Given the description of an element on the screen output the (x, y) to click on. 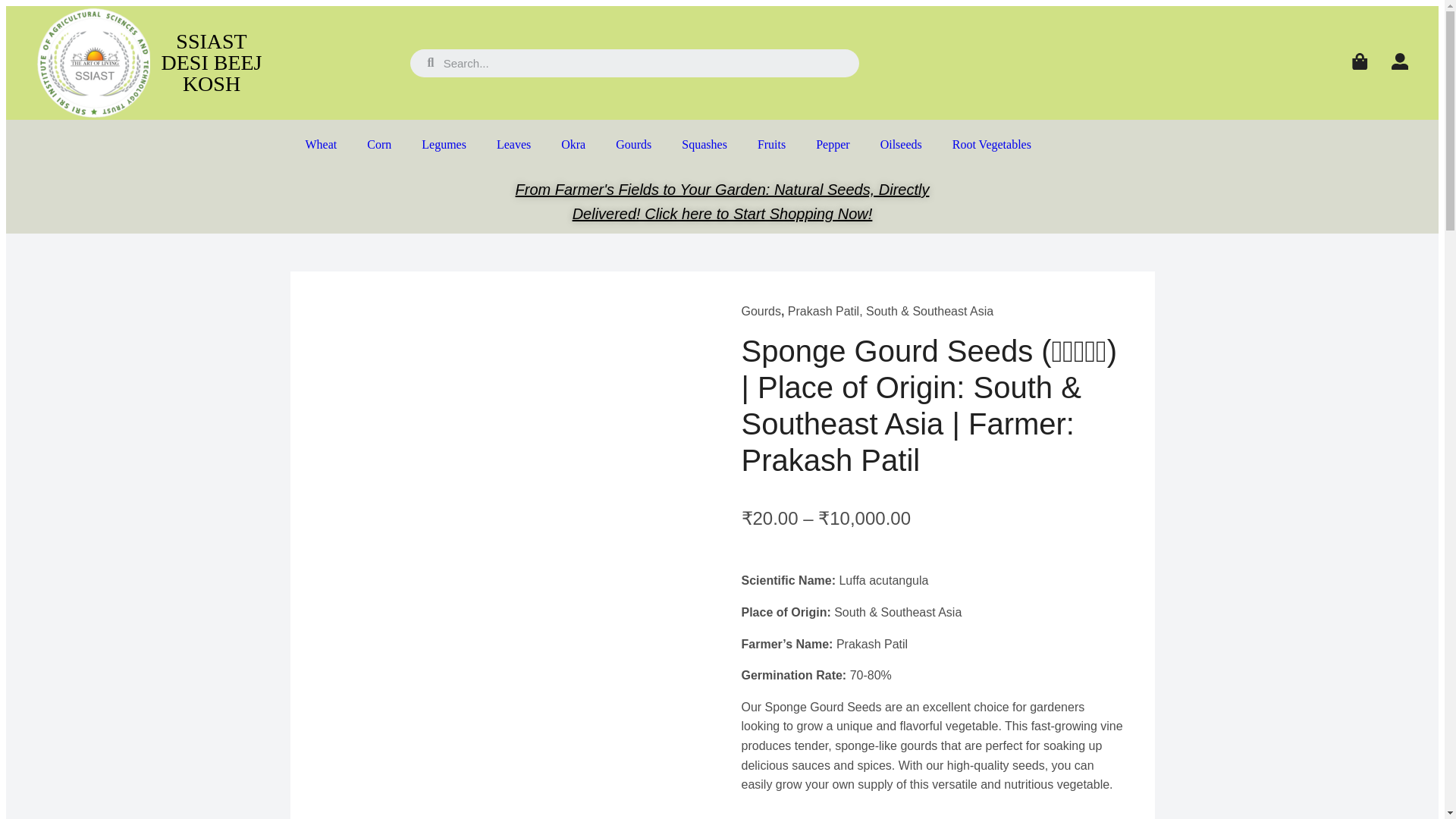
Search (642, 62)
SSIAST DESI BEEJ KOSH (211, 62)
Gourds (760, 310)
Fruits (771, 144)
Leaves (513, 144)
Prakash Patil (823, 310)
Squashes (704, 144)
Oilseeds (900, 144)
Okra (572, 144)
Corn (379, 144)
Gourds (632, 144)
Wheat (320, 144)
Root Vegetables (991, 144)
Legumes (443, 144)
Pepper (832, 144)
